Given the description of an element on the screen output the (x, y) to click on. 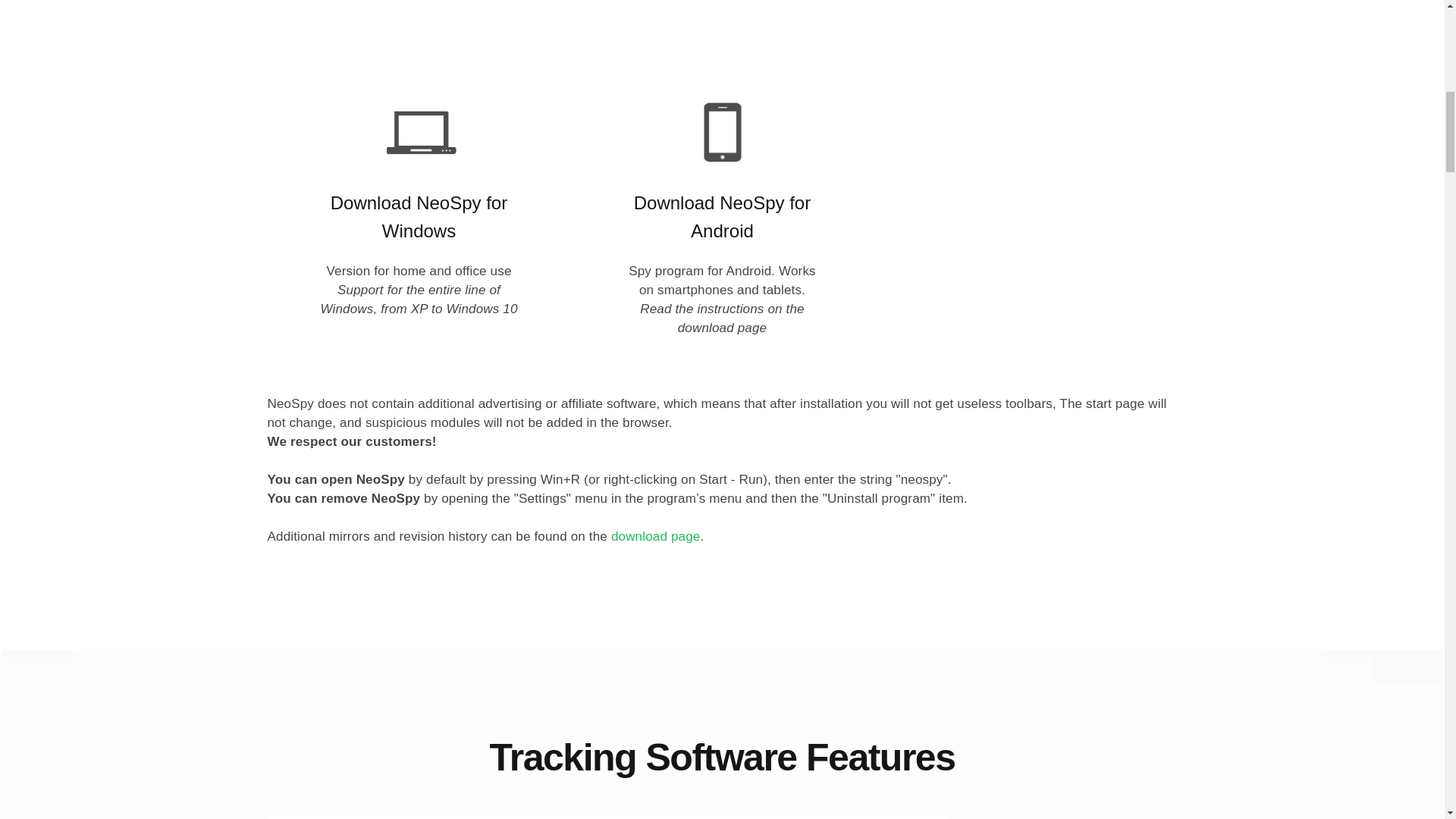
Download NeoSpy for Windows (418, 216)
download page (655, 536)
Download NeoSpy for Android (721, 216)
